Given the description of an element on the screen output the (x, y) to click on. 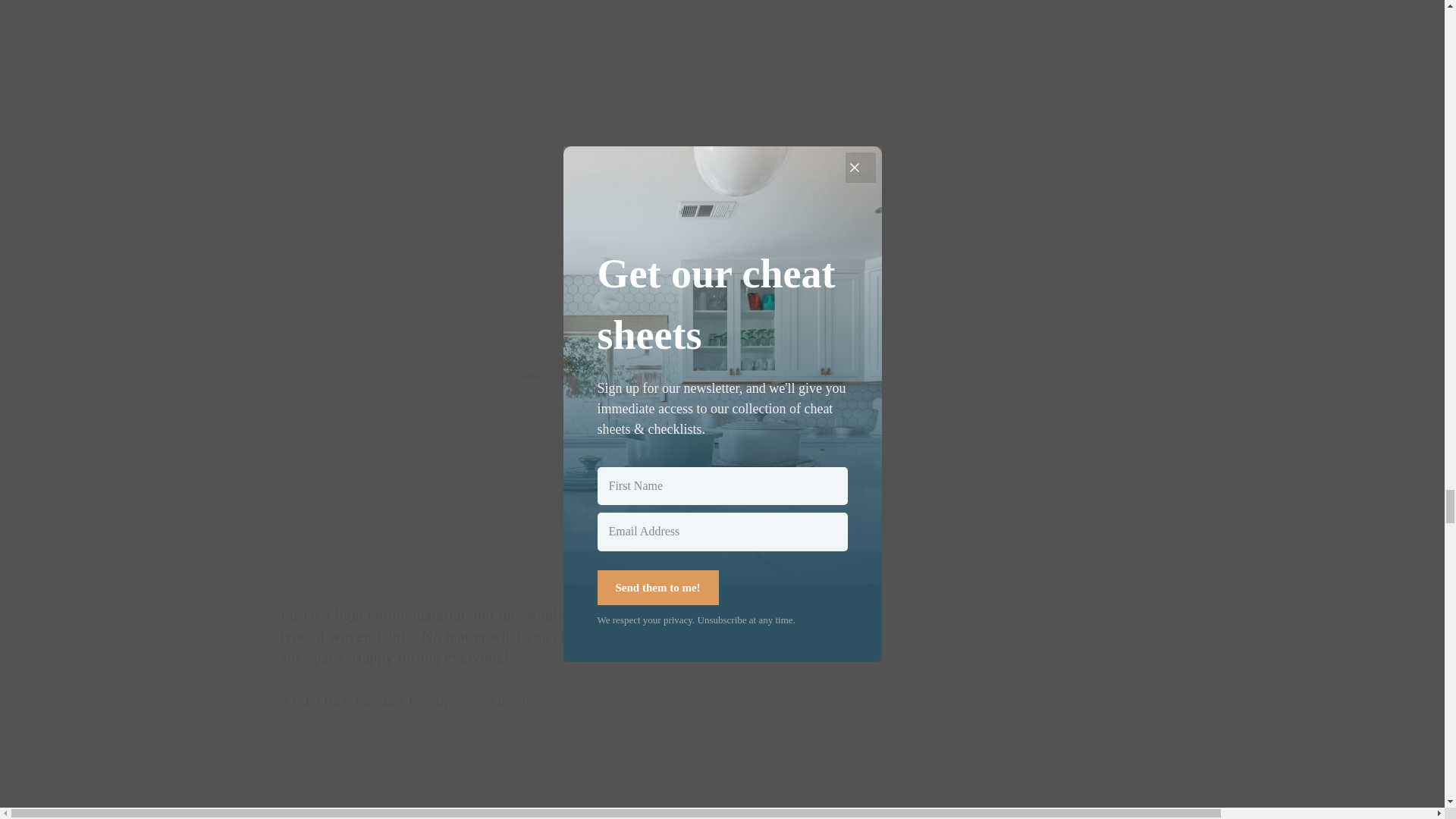
Faith Towers (573, 374)
